Given the description of an element on the screen output the (x, y) to click on. 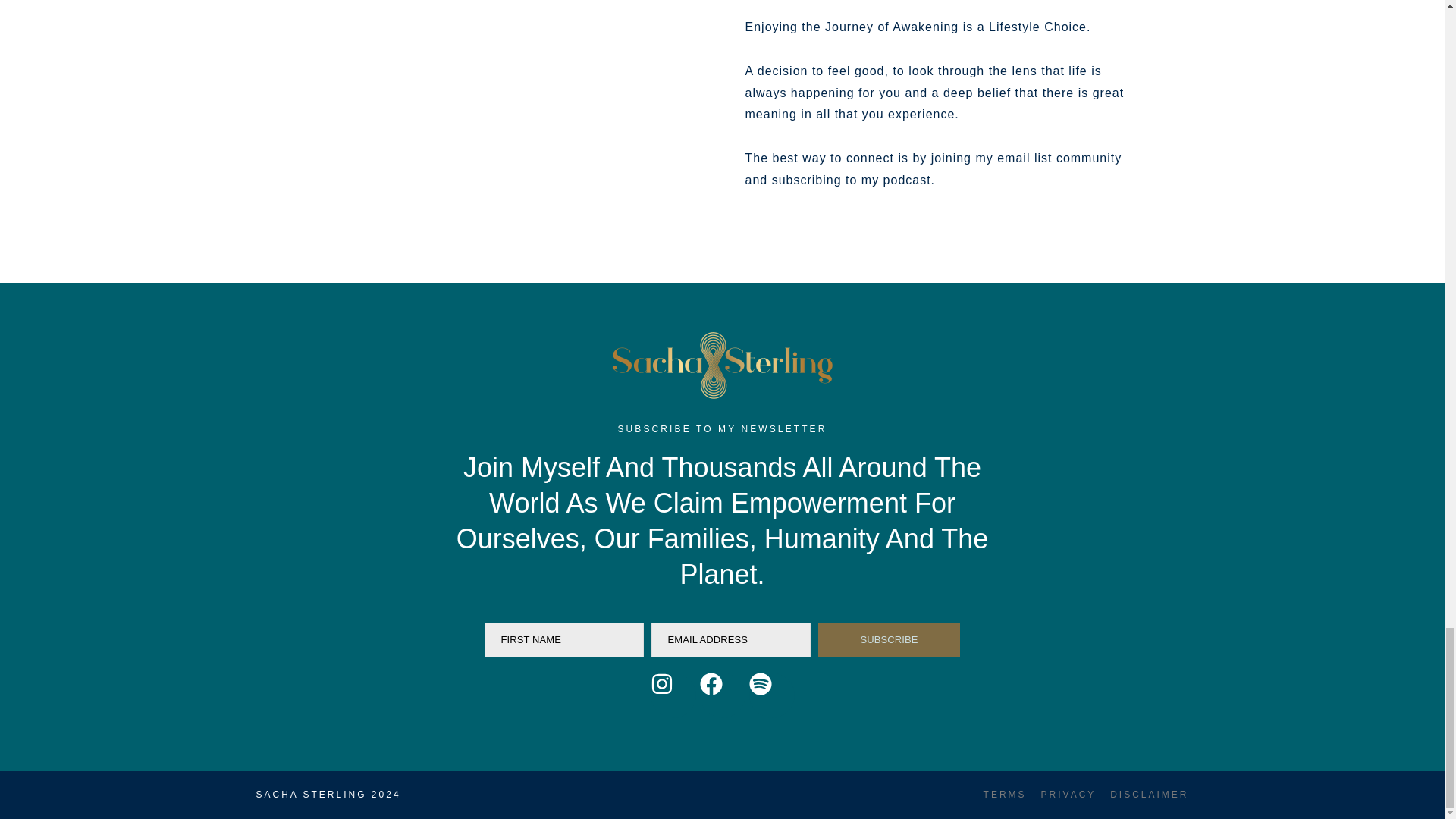
SUBSCRIBE (888, 639)
Facebook (721, 695)
Instagram (672, 695)
Spotify (771, 695)
